Given the description of an element on the screen output the (x, y) to click on. 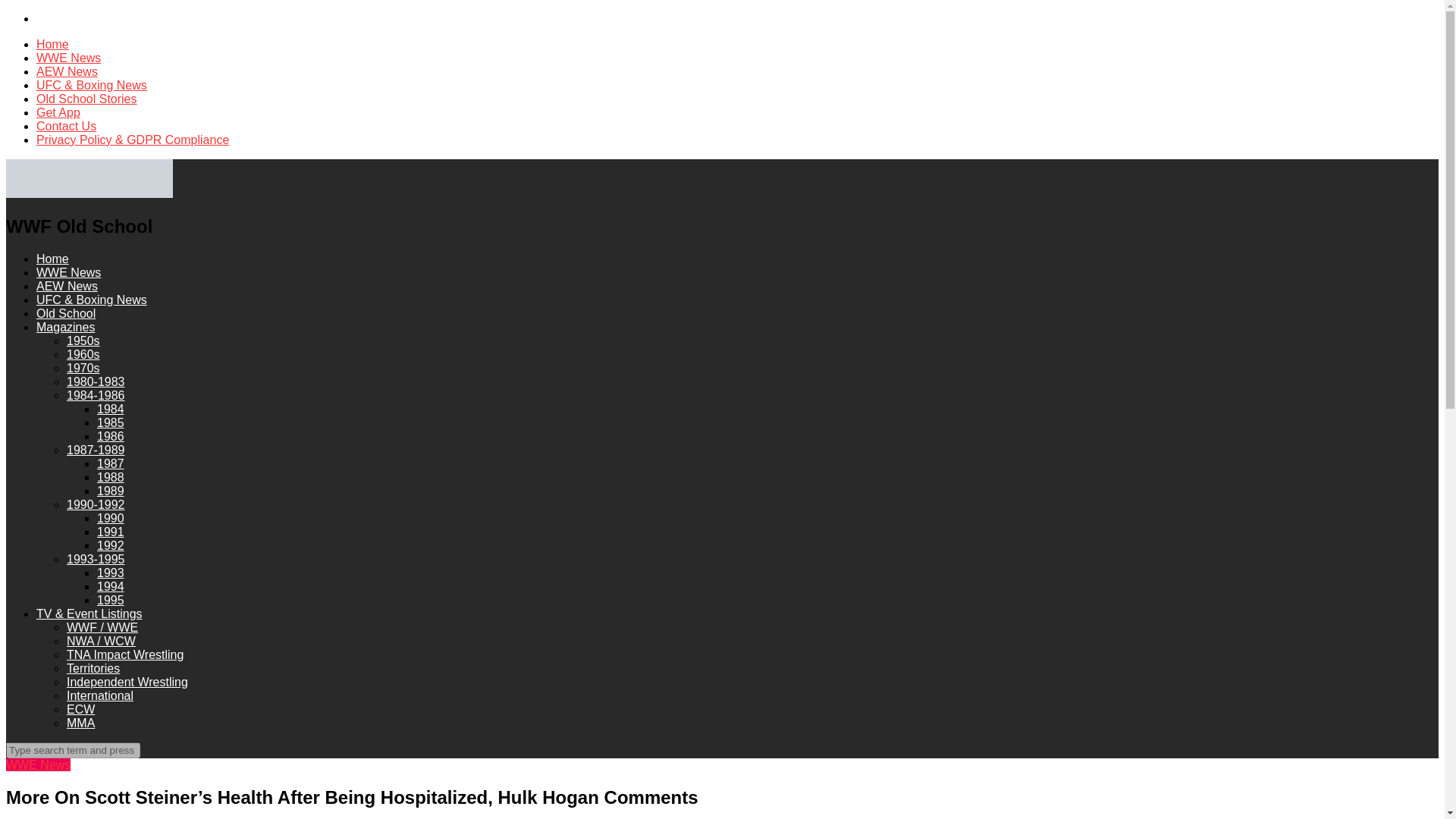
Home (52, 43)
Old School Stories (86, 98)
1986 (110, 436)
Old School (66, 313)
Magazines (65, 327)
WWE News (68, 57)
1990 (110, 517)
1993-1995 (95, 558)
1994 (110, 585)
1984 (110, 408)
